Given the description of an element on the screen output the (x, y) to click on. 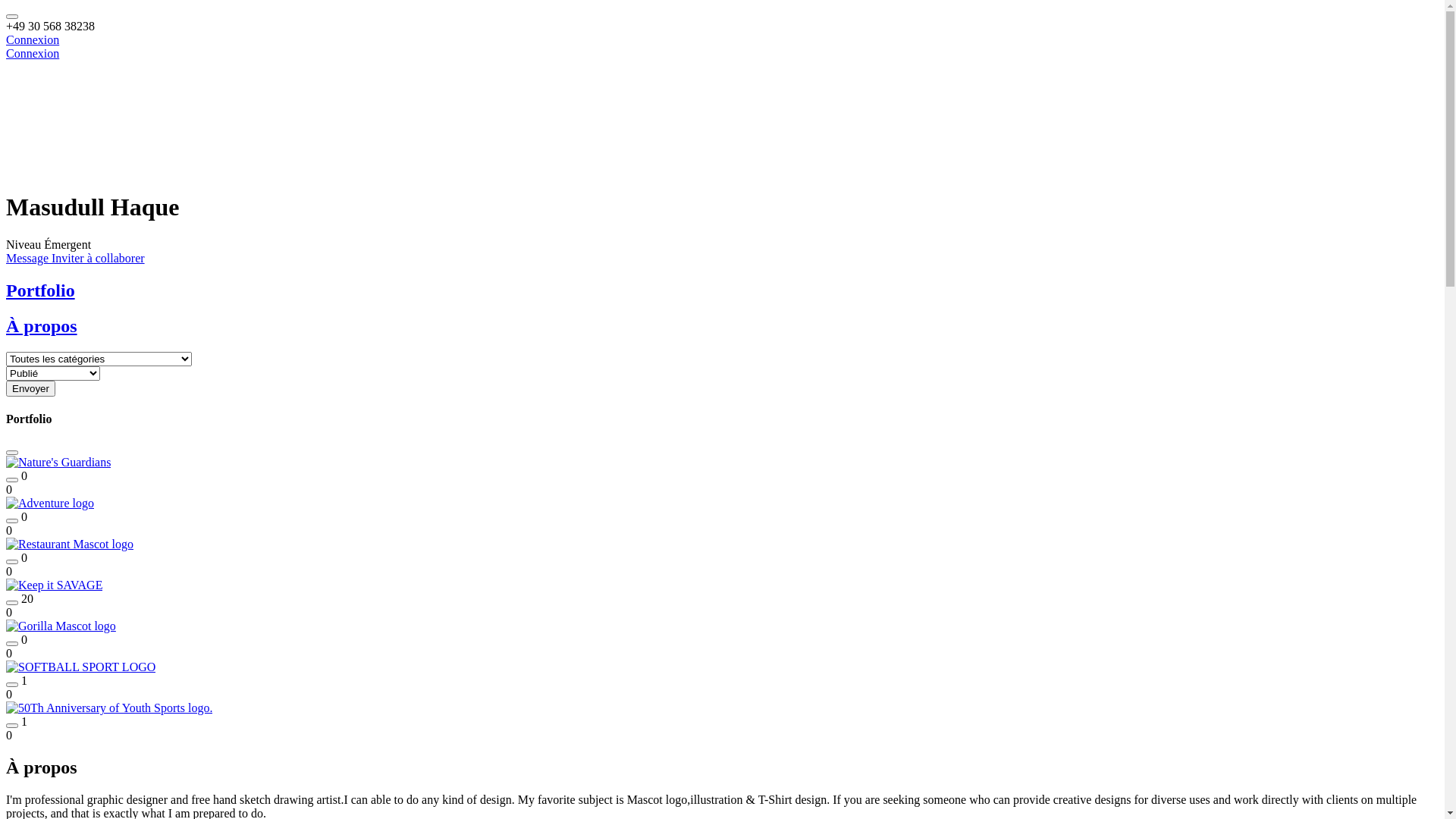
50Th Anniversary youth sports logo design. Element type: hover (109, 708)
Envoyer Element type: text (30, 388)
Mascot logo Element type: hover (61, 626)
Restaurant brand mascot logo Element type: hover (69, 544)
Message Element type: text (28, 257)
Adventure mascot logo Element type: hover (50, 503)
Mascot logo Element type: hover (54, 585)
Connexion Element type: text (32, 53)
Portfolio Element type: text (722, 290)
SOFTBALL SPORT MASCOT LOGO Element type: hover (80, 667)
Connexion Element type: text (32, 39)
